Given the description of an element on the screen output the (x, y) to click on. 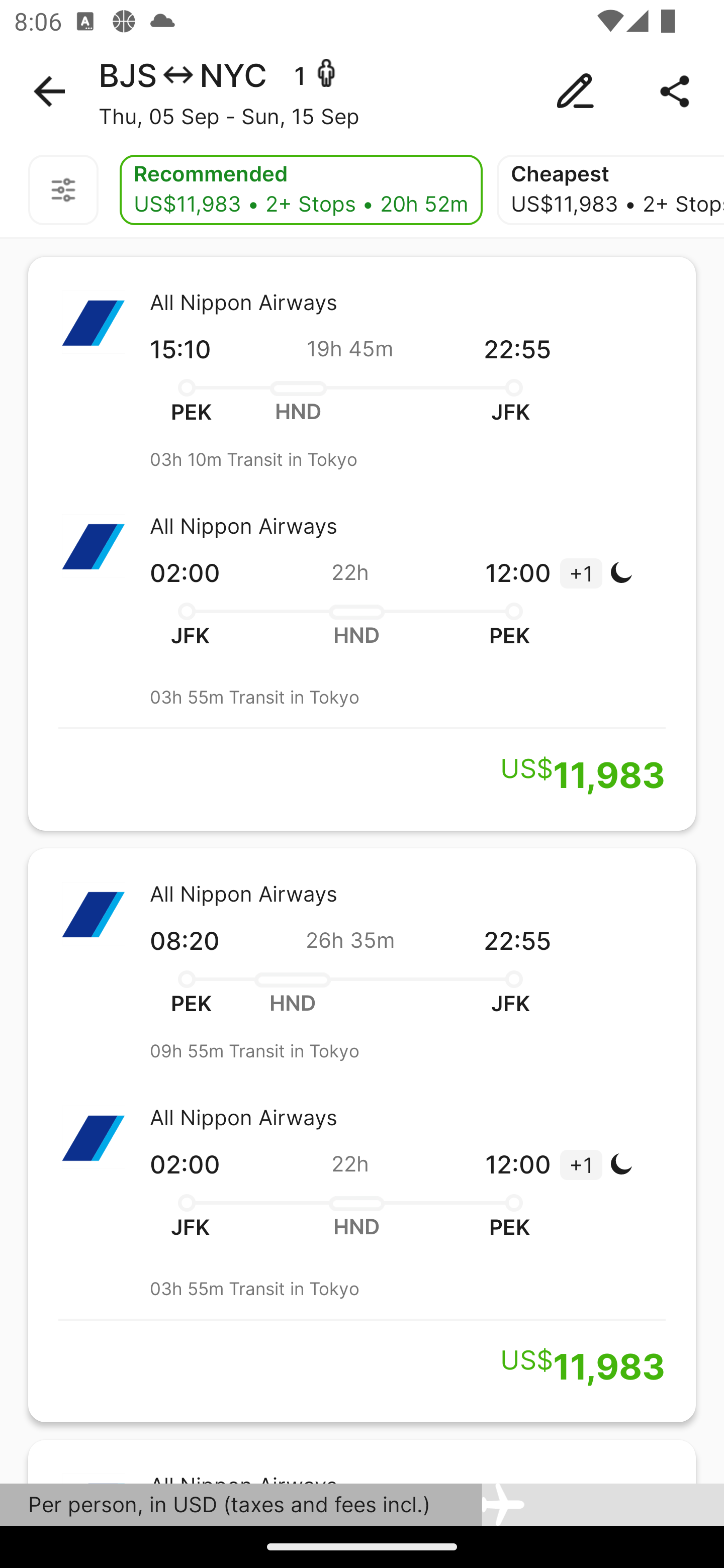
BJS NYC   1 - Thu, 05 Sep - Sun, 15 Sep (361, 91)
Recommended  US$11,983 • 2+ Stops • 20h 52m (300, 190)
Cheapest US$11,983 • 2+ Stops • 34h 32m (610, 190)
